Given the description of an element on the screen output the (x, y) to click on. 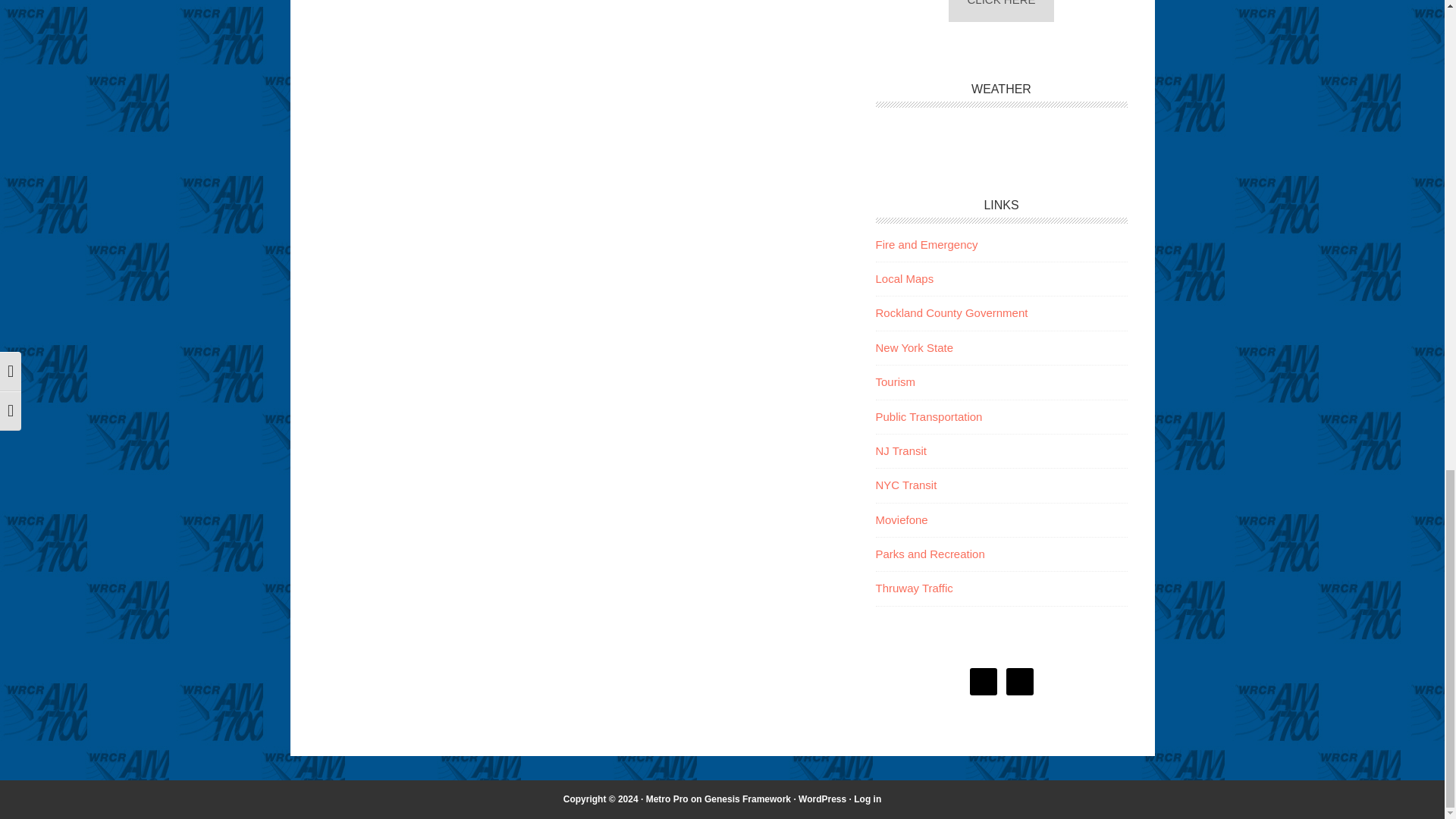
Metro Pro (667, 798)
Public Transportation (928, 416)
Fire and Emergency (925, 244)
Rockland County Government (951, 312)
New York State (914, 347)
Parks and Recreation (929, 553)
Local Maps (904, 278)
WordPress (821, 798)
NYC Transit (905, 484)
Genesis Framework (747, 798)
